Given the description of an element on the screen output the (x, y) to click on. 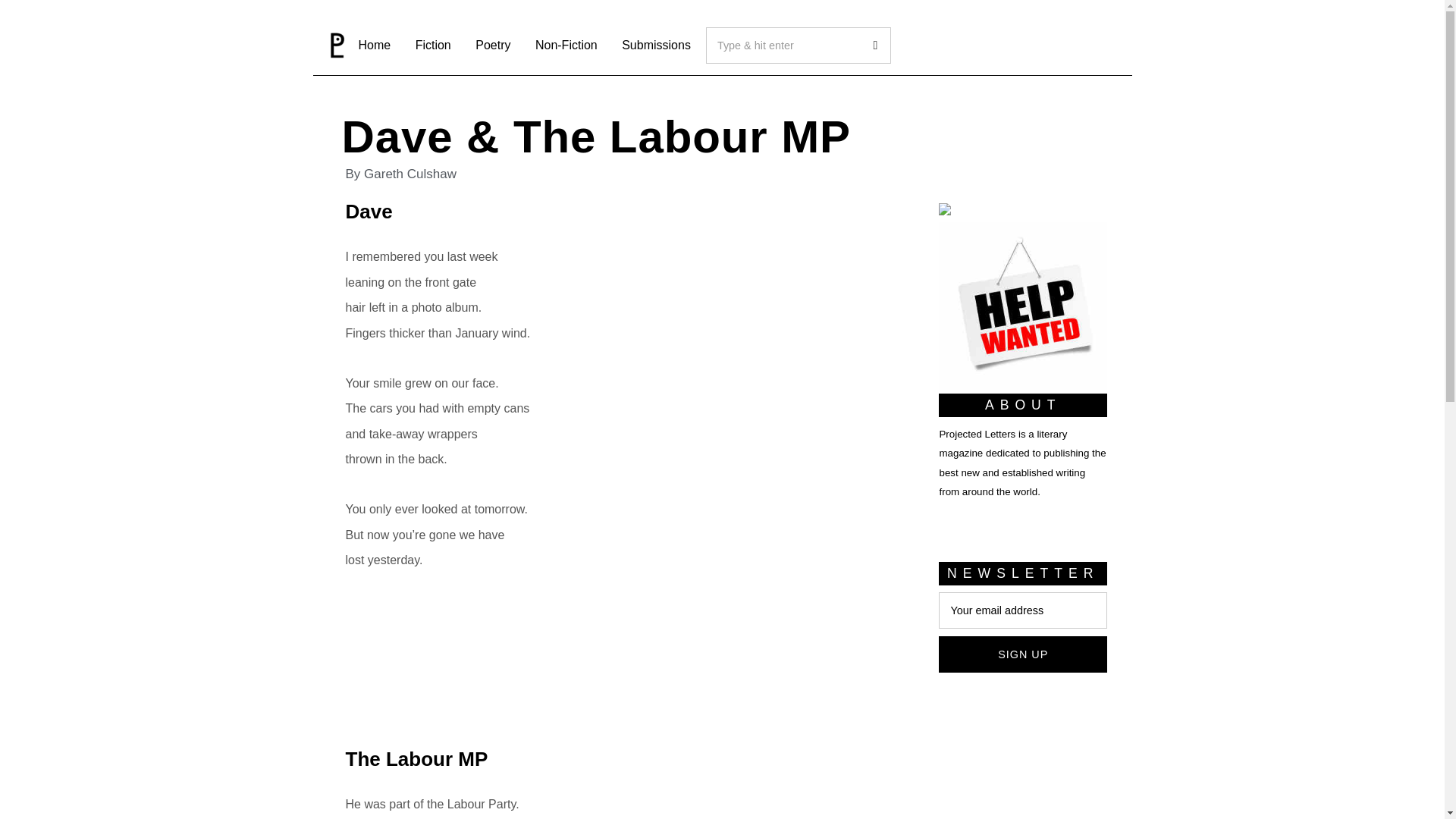
Poetry (492, 45)
Go (872, 45)
Home (357, 45)
Submissions (656, 45)
Fiction (432, 45)
Sign up (1022, 654)
Non-Fiction (566, 45)
Sign up (1022, 654)
